Given the description of an element on the screen output the (x, y) to click on. 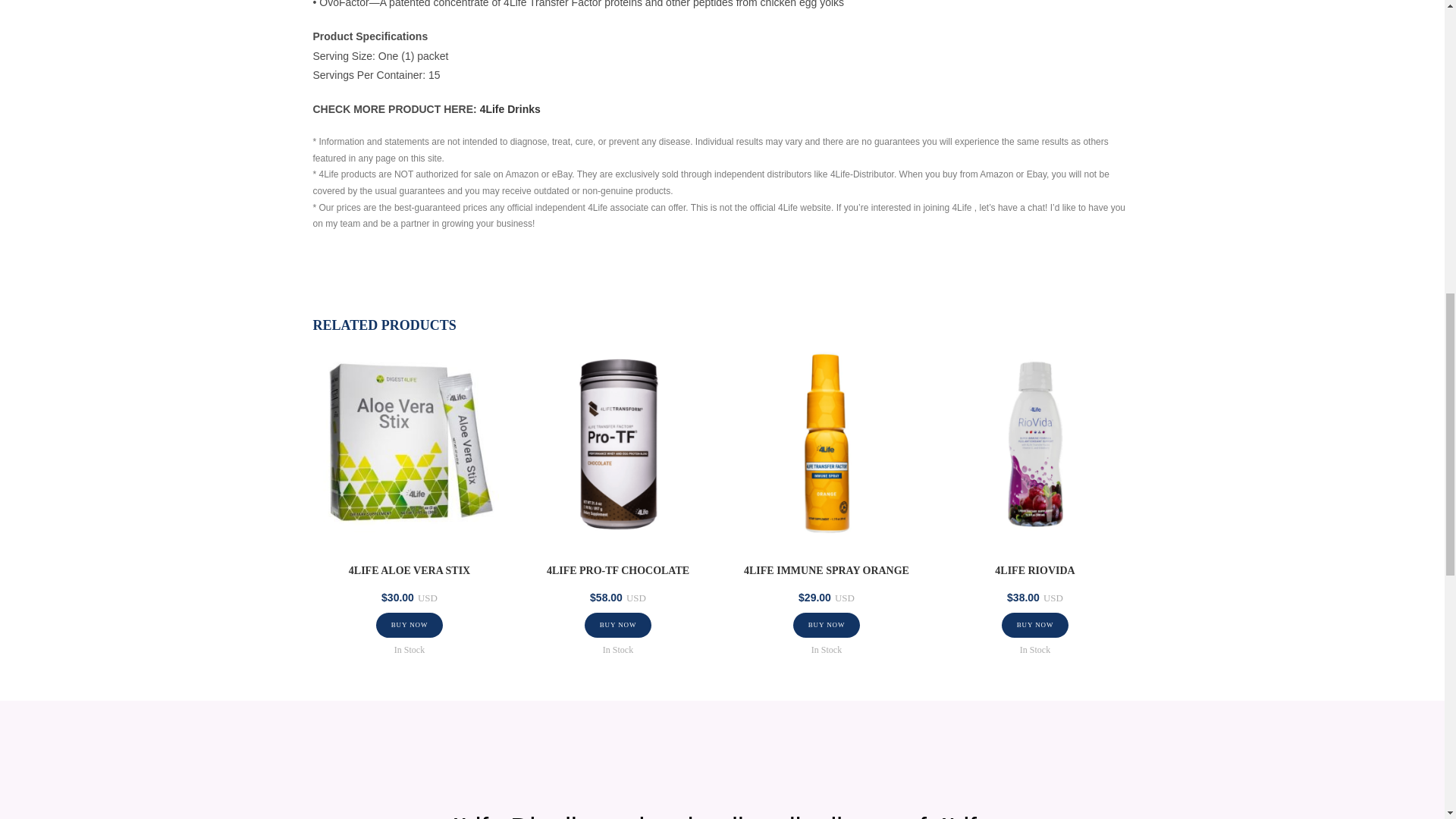
4LIFE IMMUNE SPRAY ORANGE (826, 570)
BUY NOW (618, 625)
4LIFE PRO-TF CHOCOLATE (617, 570)
4LIFE ALOE VERA STIX (409, 570)
4Life Drinks (510, 109)
BUY NOW (409, 625)
